Given the description of an element on the screen output the (x, y) to click on. 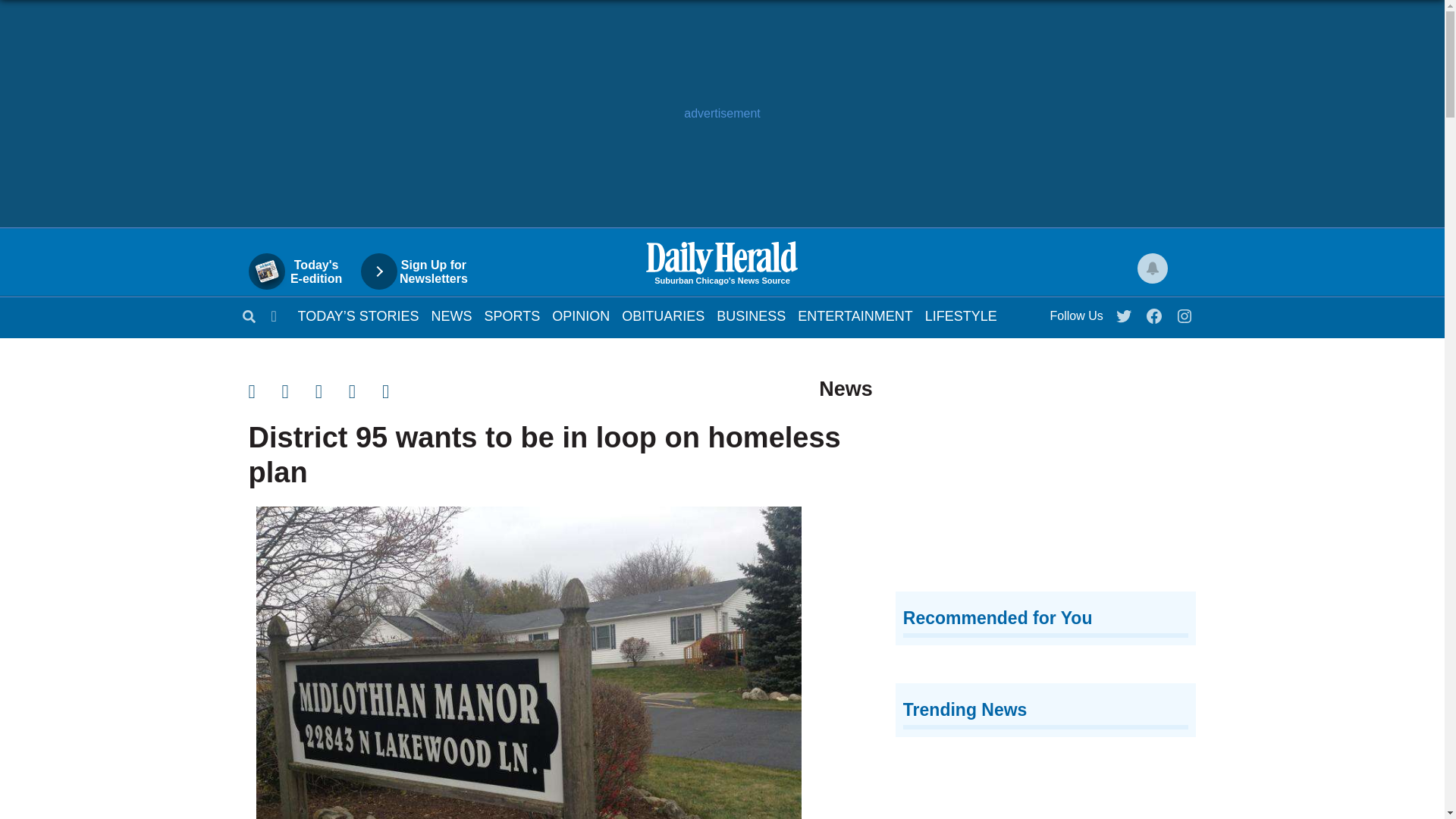
LIFESTYLE (960, 315)
NEWS (303, 271)
OBITUARIES (450, 315)
Sports (662, 315)
Business (512, 315)
Obituaries (751, 315)
OPINION (662, 315)
Entertainment (580, 315)
Twitter (854, 315)
Today's Stories (1124, 312)
Share via Email (358, 315)
SPORTS (332, 391)
Sign Up for Newsletters (512, 315)
BUSINESS (421, 271)
